Given the description of an element on the screen output the (x, y) to click on. 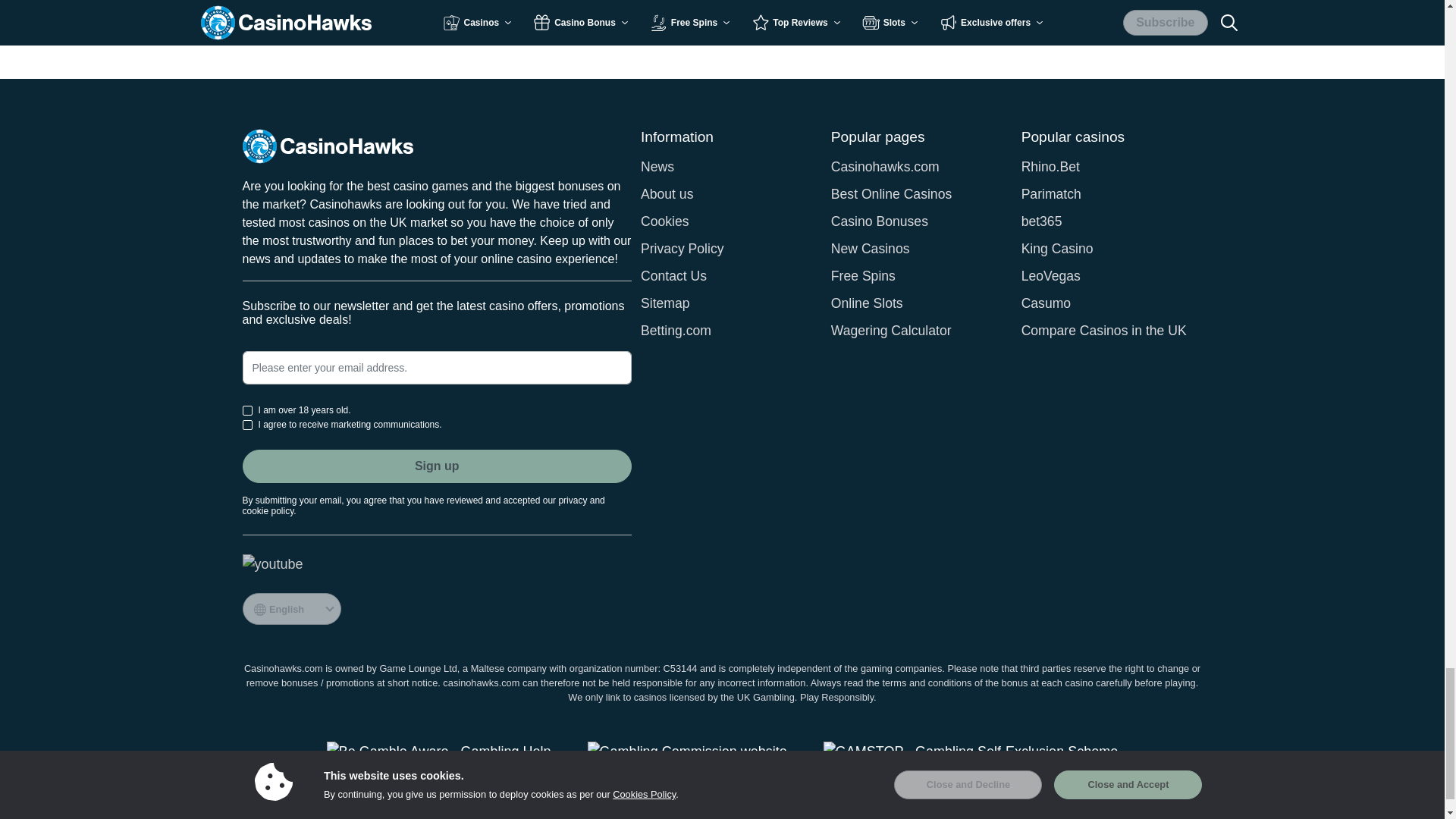
on (247, 410)
on (247, 424)
